Given the description of an element on the screen output the (x, y) to click on. 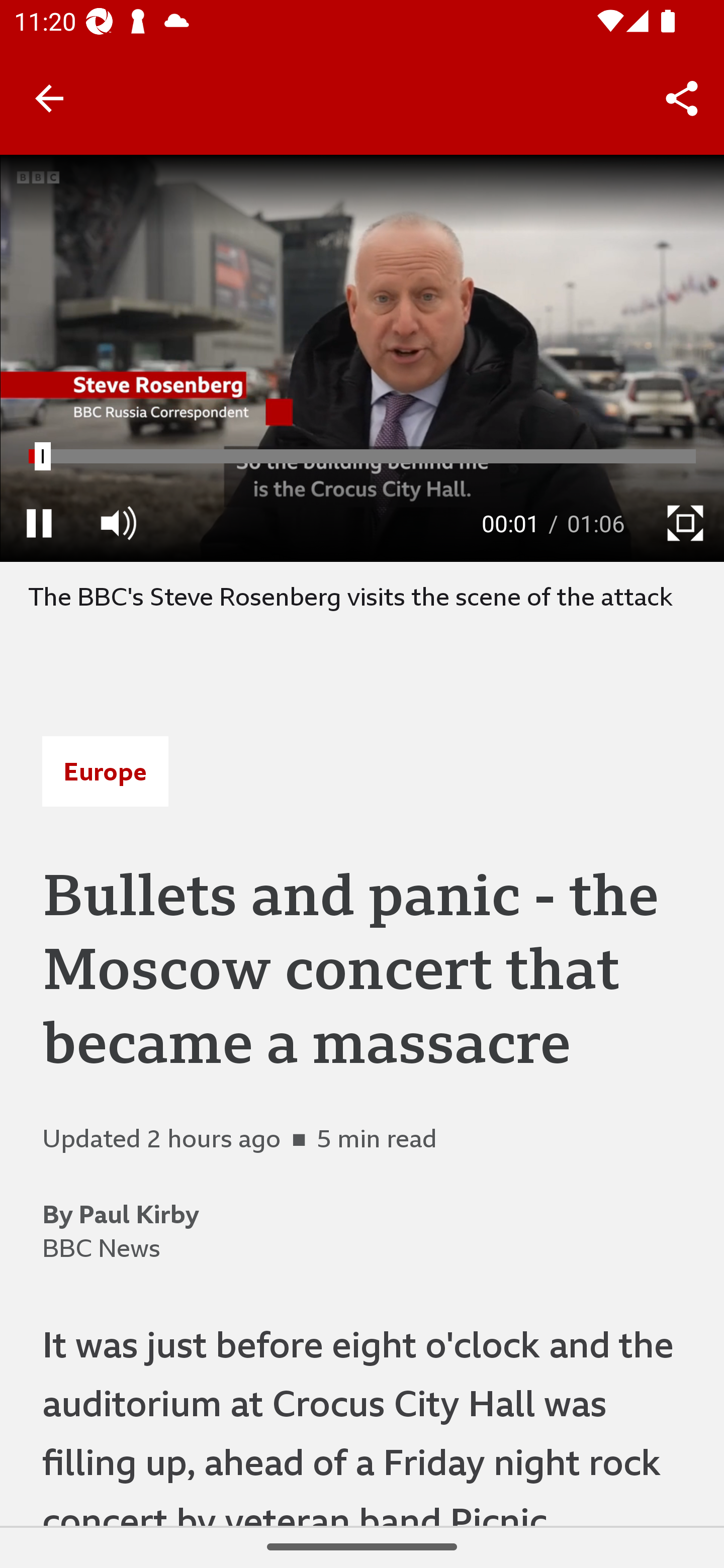
Back (49, 97)
Share (681, 98)
volume (118, 522)
enter fullscreen (685, 522)
Europe (104, 771)
